Given the description of an element on the screen output the (x, y) to click on. 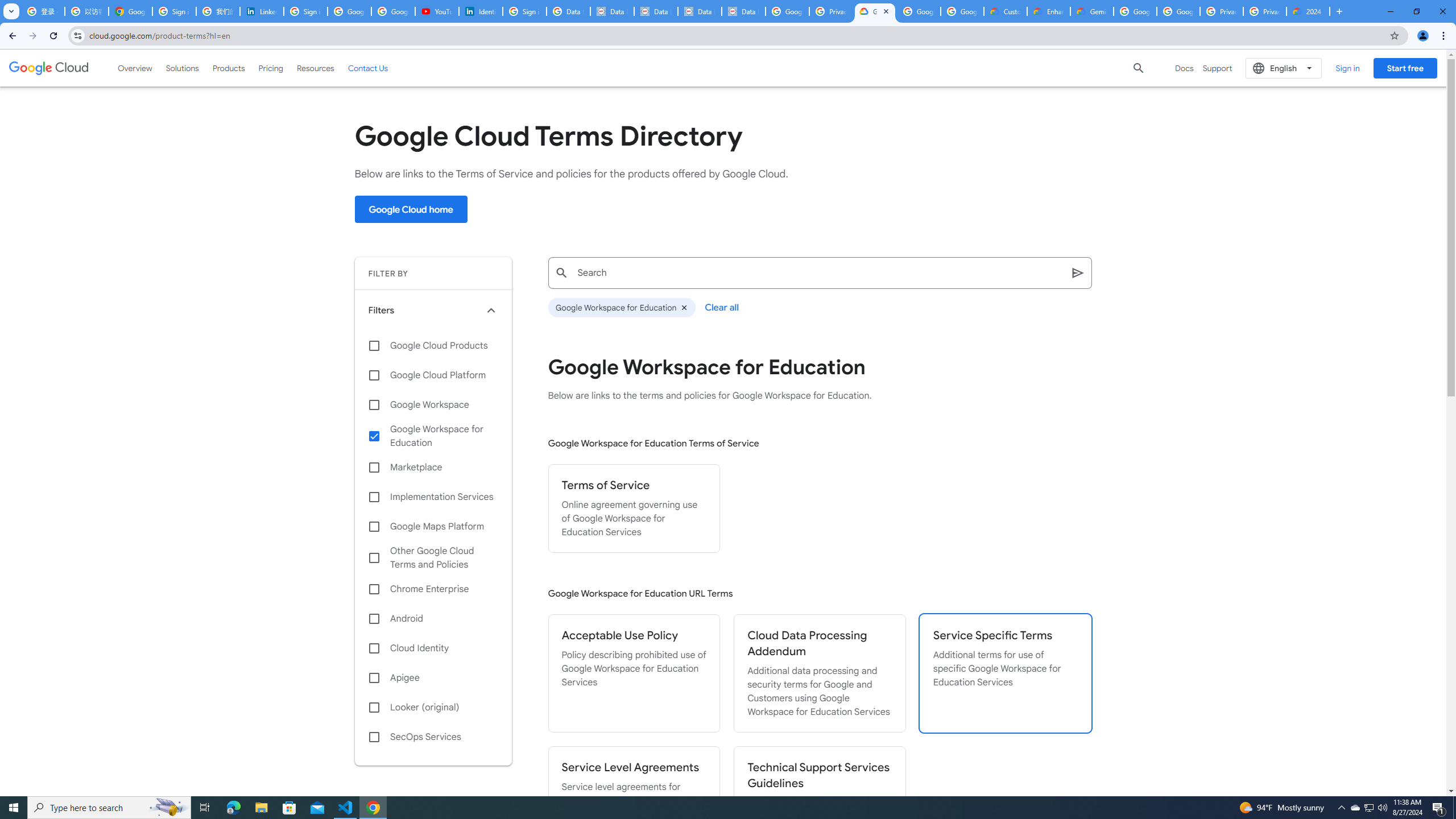
Customer Care | Google Cloud (1005, 11)
Enhanced Support | Google Cloud (1048, 11)
SecOps Services (432, 736)
Docs (1183, 67)
Google Workspace for Education (432, 435)
Other Google Cloud Terms and Policies (432, 557)
Google Workspace - Specific Terms (918, 11)
Google Cloud Platform (1134, 11)
Google Workspace - Specific Terms (962, 11)
Google Workspace for Education (621, 307)
Solutions (181, 67)
Sign in - Google Accounts (173, 11)
Support (1216, 67)
Implementation Services (432, 496)
